Given the description of an element on the screen output the (x, y) to click on. 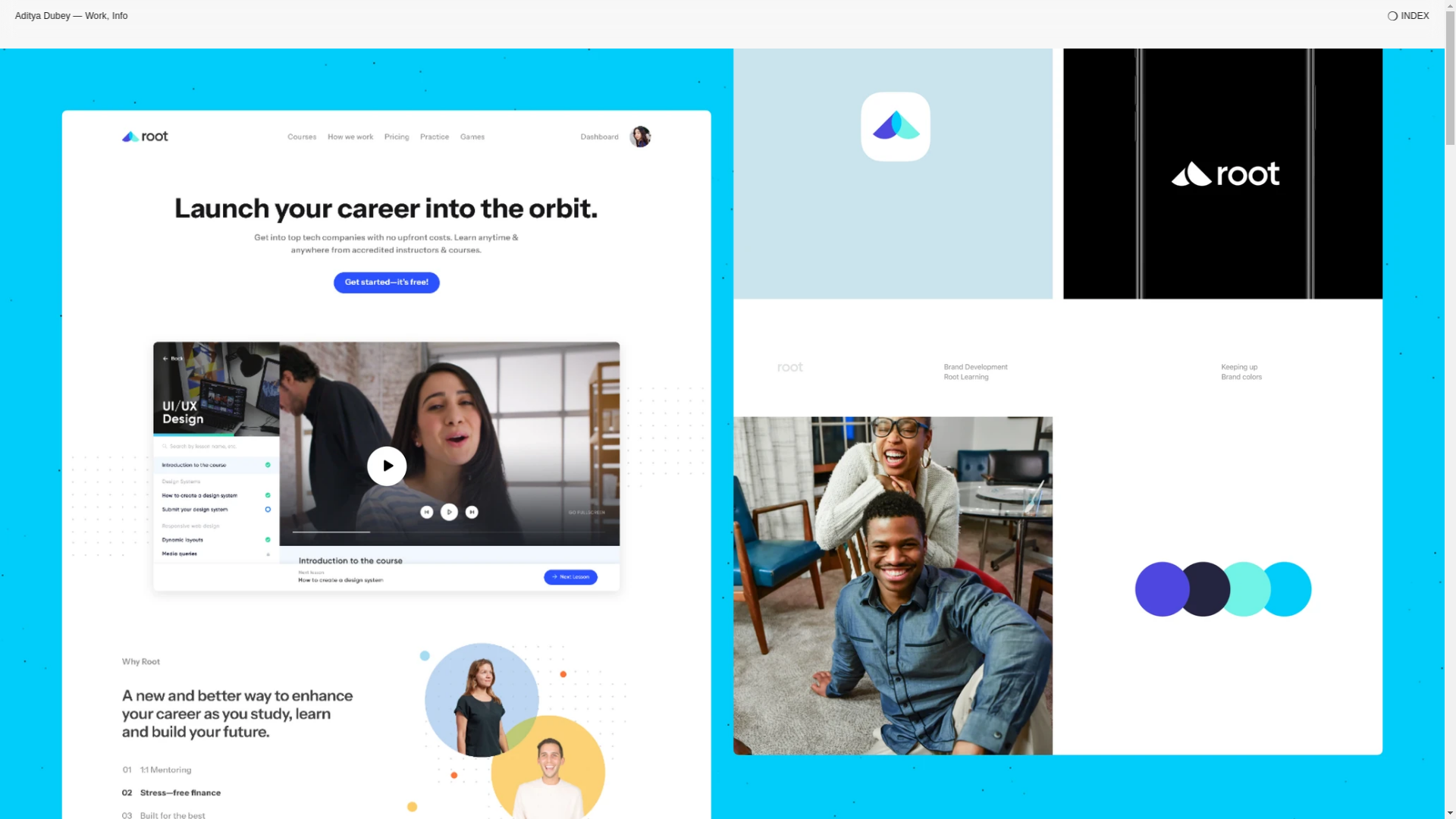
Work, (96, 15)
INDEX (1414, 15)
Info (120, 15)
